Given the description of an element on the screen output the (x, y) to click on. 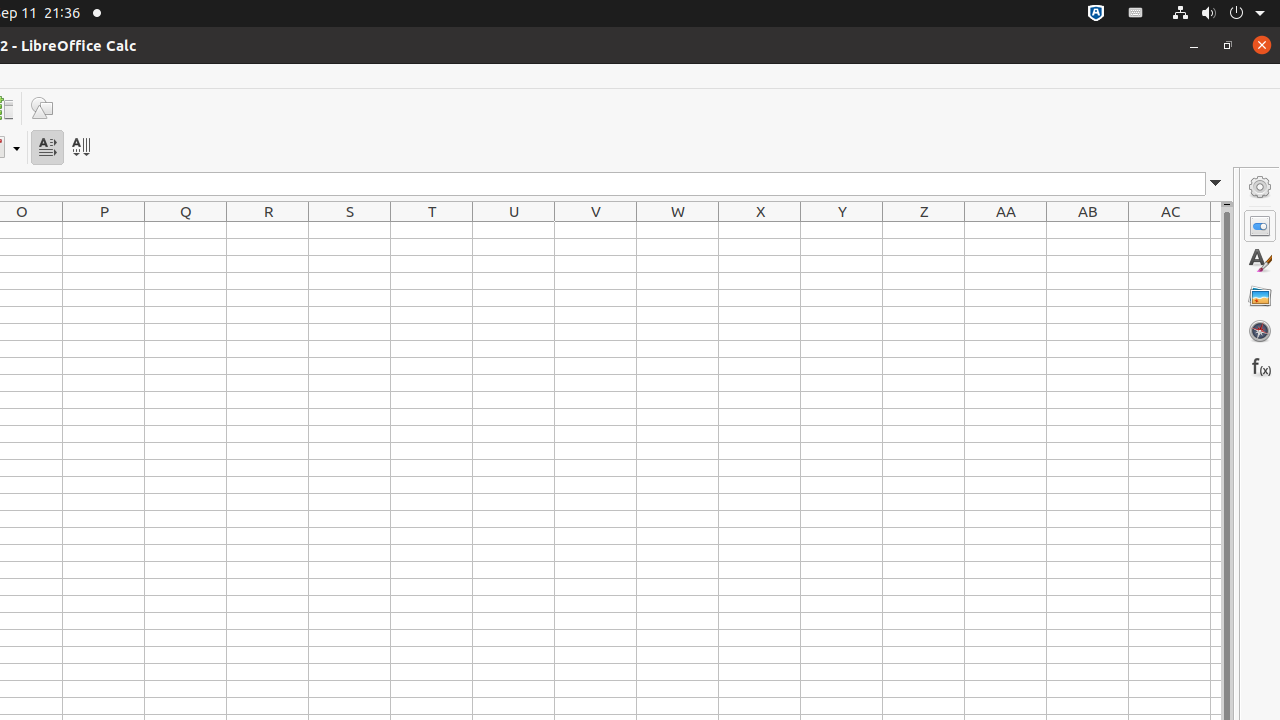
S1 Element type: table-cell (350, 230)
Properties Element type: radio-button (1260, 226)
Text direction from top to bottom Element type: toggle-button (80, 147)
